Given the description of an element on the screen output the (x, y) to click on. 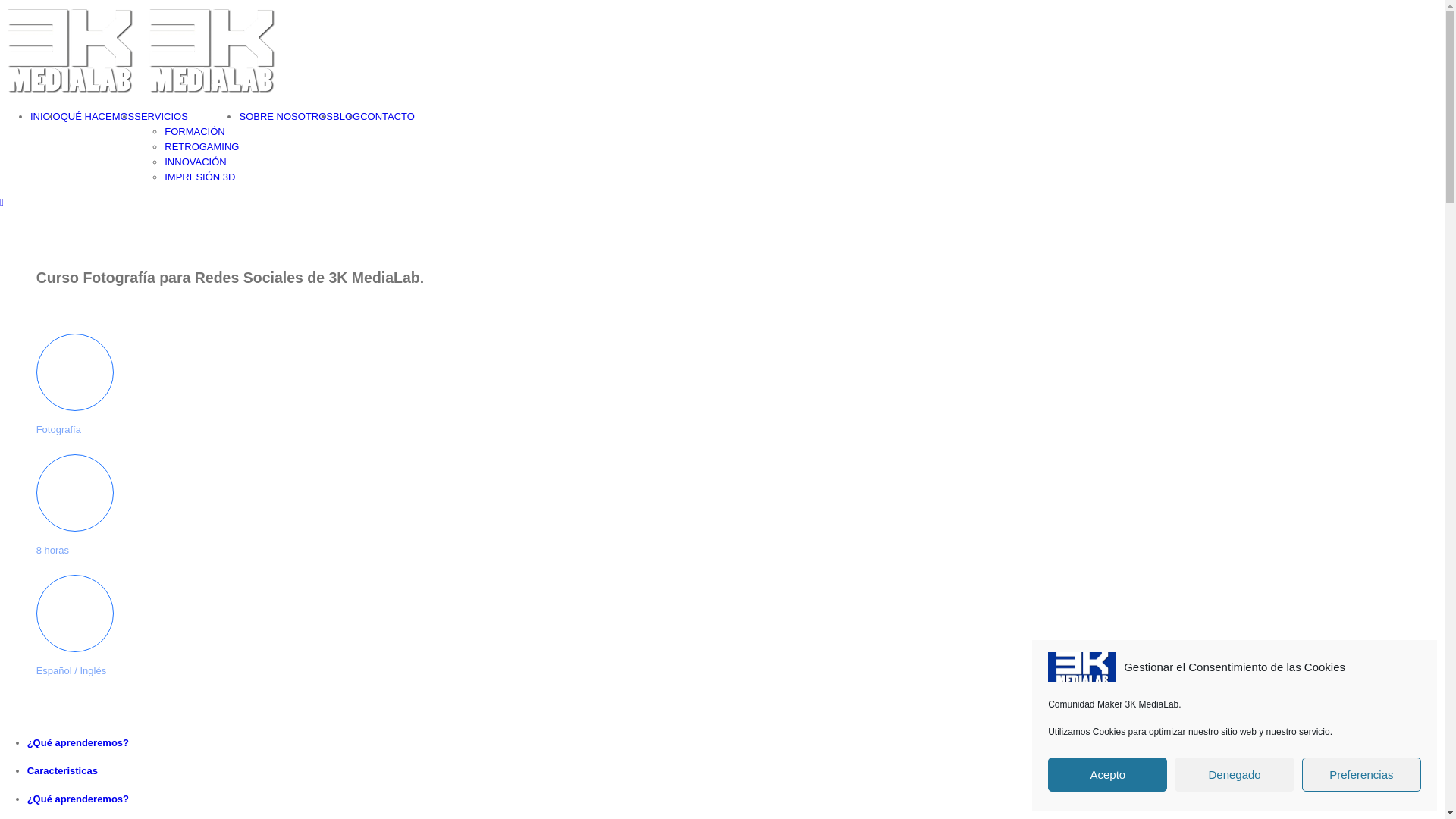
SERVICIOS Element type: text (161, 116)
CONTACTO Element type: text (387, 116)
SOBRE NOSOTROS Element type: text (285, 116)
Denegado Element type: text (1233, 774)
Acepto Element type: text (1107, 774)
INICIO Element type: text (45, 116)
RETROGAMING Element type: text (201, 146)
BLOG Element type: text (346, 116)
Preferencias Element type: text (1361, 774)
Caracteristicas Element type: text (301, 770)
